Given the description of an element on the screen output the (x, y) to click on. 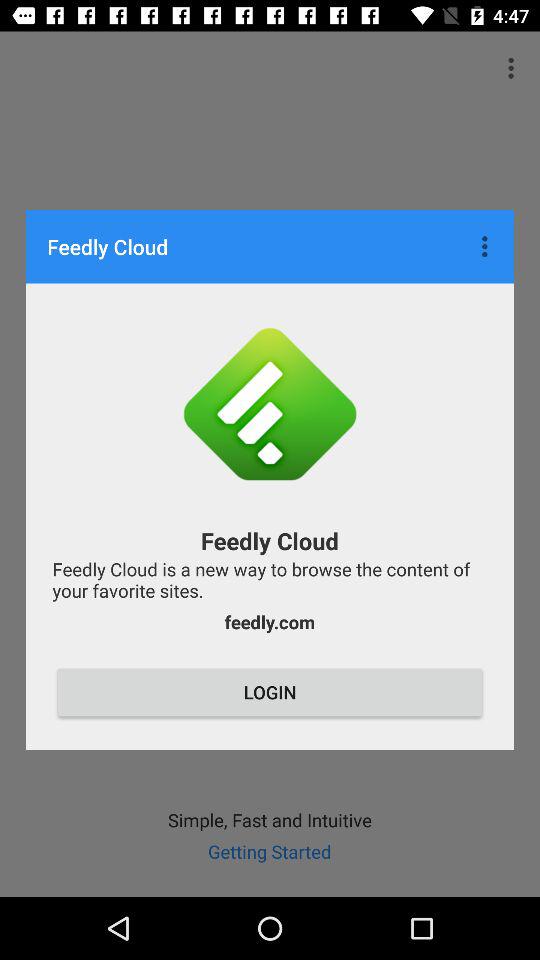
scroll until login icon (269, 691)
